Given the description of an element on the screen output the (x, y) to click on. 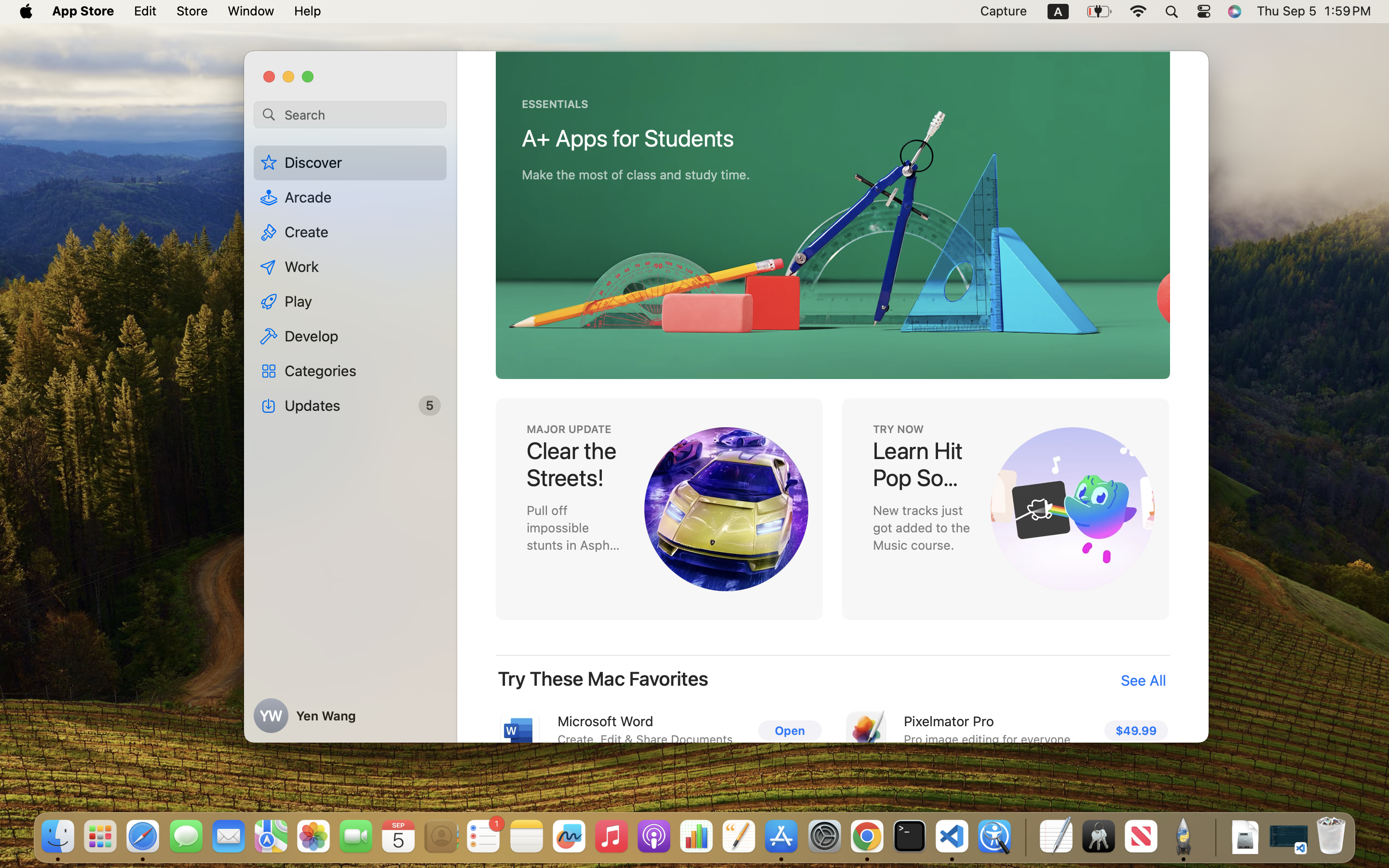
MAJOR UPDATE, Clear the Streets, Pull off impossible stunts in Asphalt Legends: Unite Element type: AXStaticText (658, 509)
0.4285714328289032 Element type: AXDockItem (1024, 836)
Learn Hit Pop Songs With Duolingo Element type: AXStaticText (920, 463)
Yen Wang Element type: AXButton (350, 715)
Try These Mac Favorites Element type: AXStaticText (602, 678)
